Given the description of an element on the screen output the (x, y) to click on. 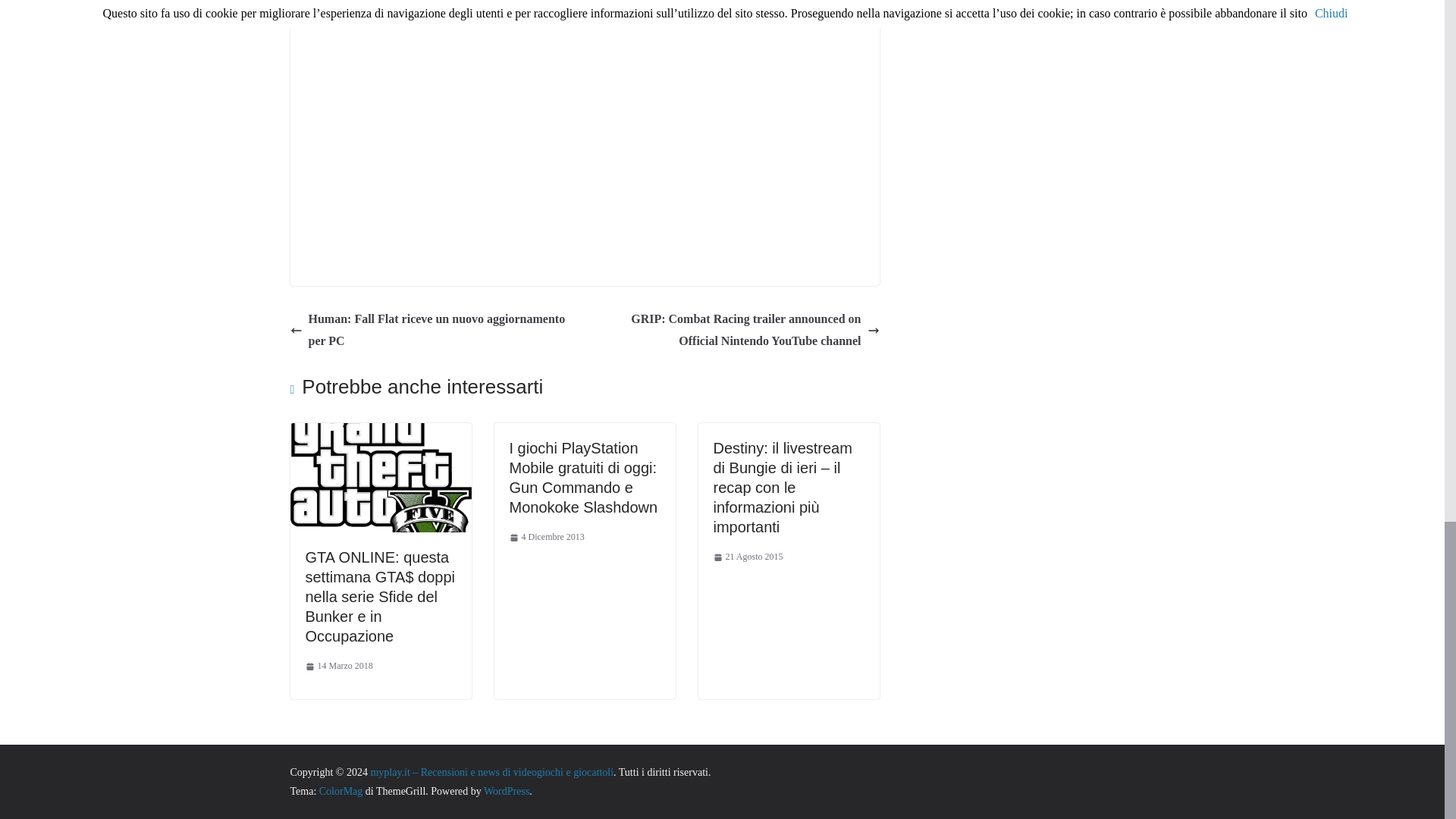
14 Marzo 2018 (338, 666)
17:27 (547, 537)
4 Dicembre 2013 (547, 537)
10:52 (748, 556)
12:06 (338, 666)
Human: Fall Flat riceve un nuovo aggiornamento per PC (432, 330)
